Given the description of an element on the screen output the (x, y) to click on. 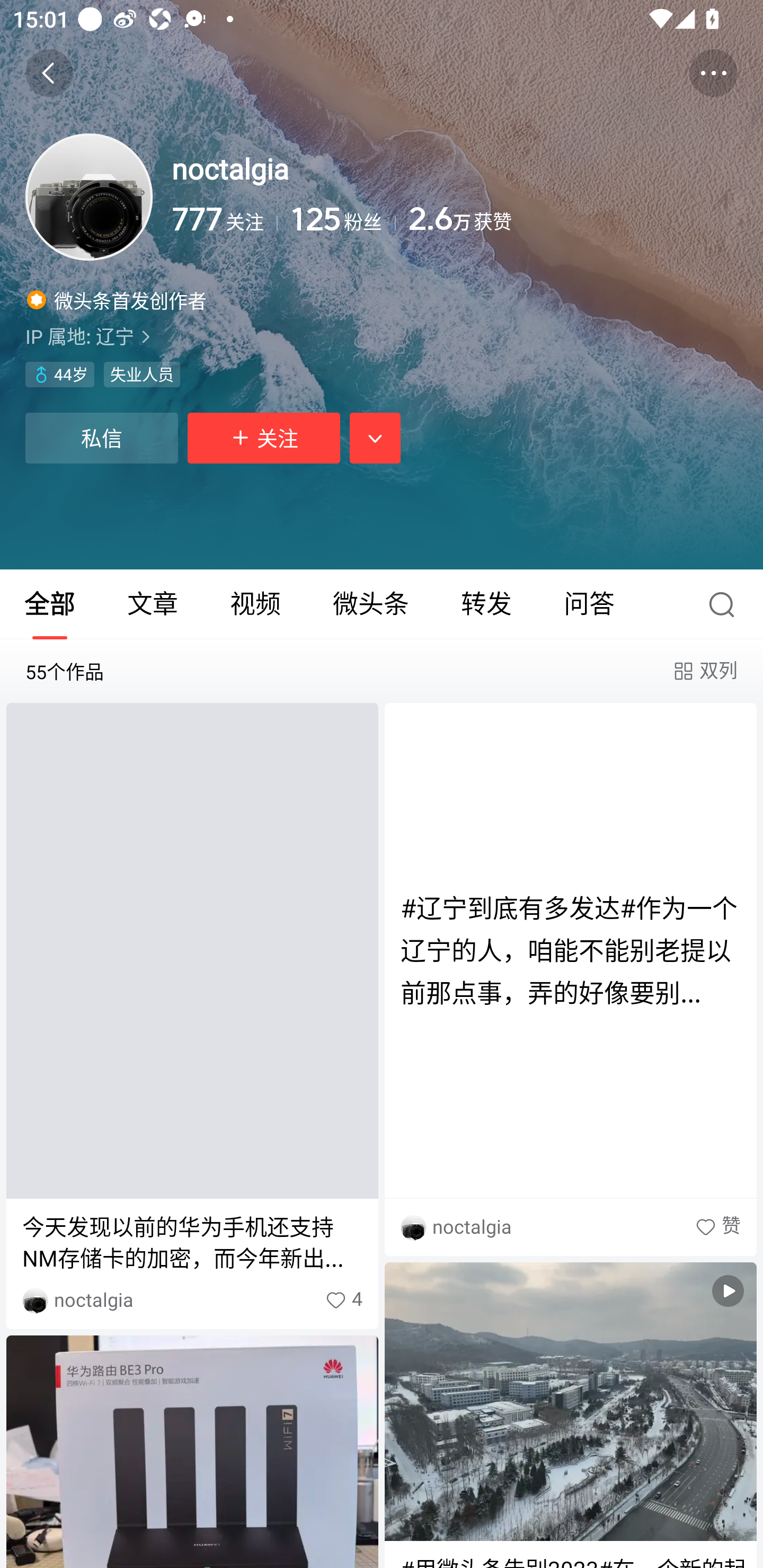
返回 (49, 72)
更多操作 (713, 72)
头像 (88, 196)
777 关注 (224, 219)
125 粉丝 (342, 219)
2.6万 获赞 (572, 219)
微头条首发创作者 (116, 299)
IP 属地: 辽宁 (381, 336)
性别男，年龄44岁 44岁 (59, 374)
失业人员 (141, 374)
私信 (101, 438)
     关注 (263, 438)
展开相关推荐，按钮 (374, 438)
全部 (50, 604)
文章 (152, 604)
视频 (254, 604)
微头条 (370, 604)
转发 (485, 604)
问答 (588, 604)
搜索 (726, 604)
双列 当前双列点按切换至单列 (703, 670)
视频 #用微头条告别2023#在一个新的起点中结束我的2023。这是12月3... (570, 1415)
